Given the description of an element on the screen output the (x, y) to click on. 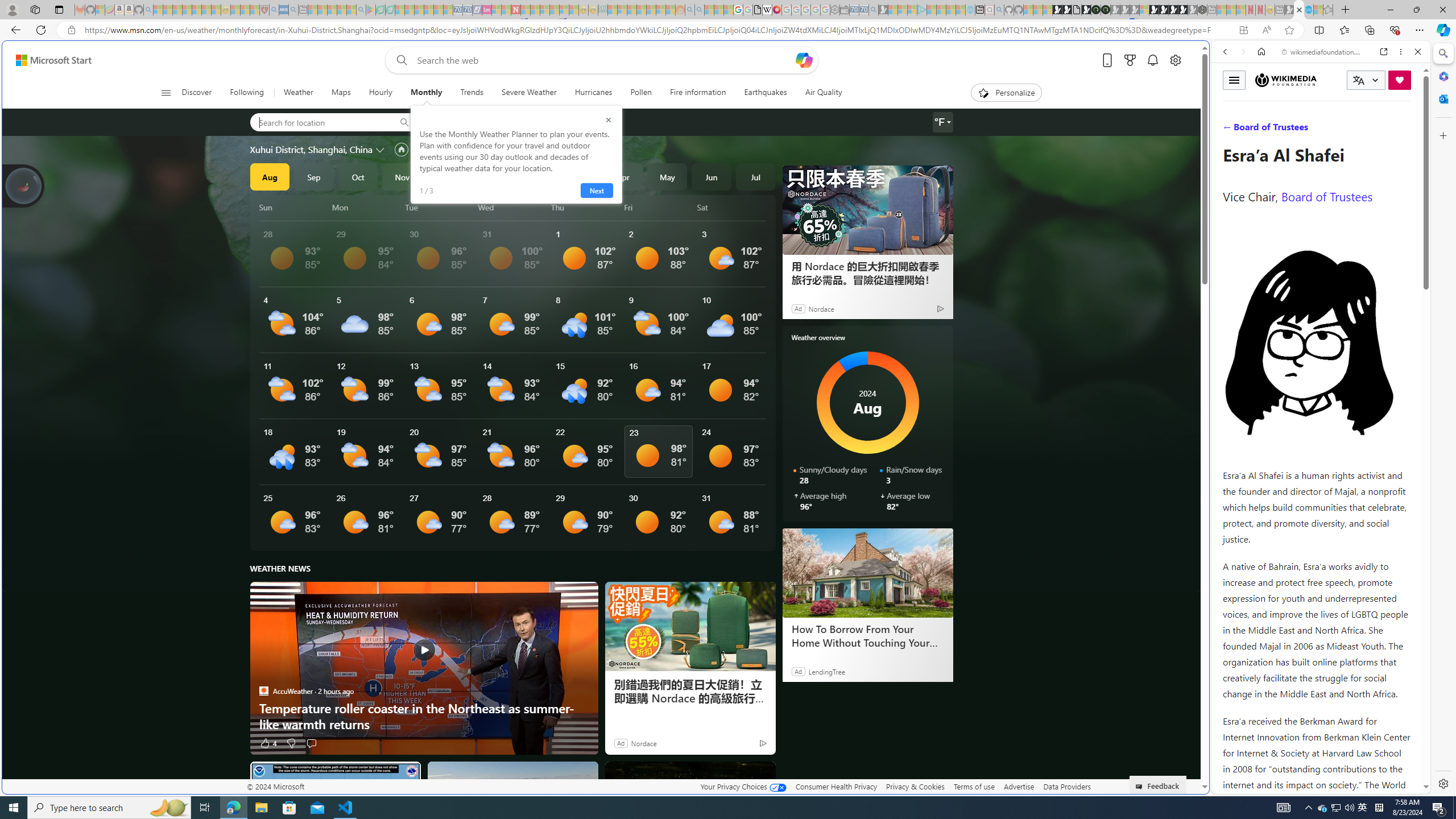
How To Borrow From Your Home Without Touching Your Mortgage (866, 635)
Bing Real Estate - Home sales and rental listings - Sleeping (873, 9)
